Given the description of an element on the screen output the (x, y) to click on. 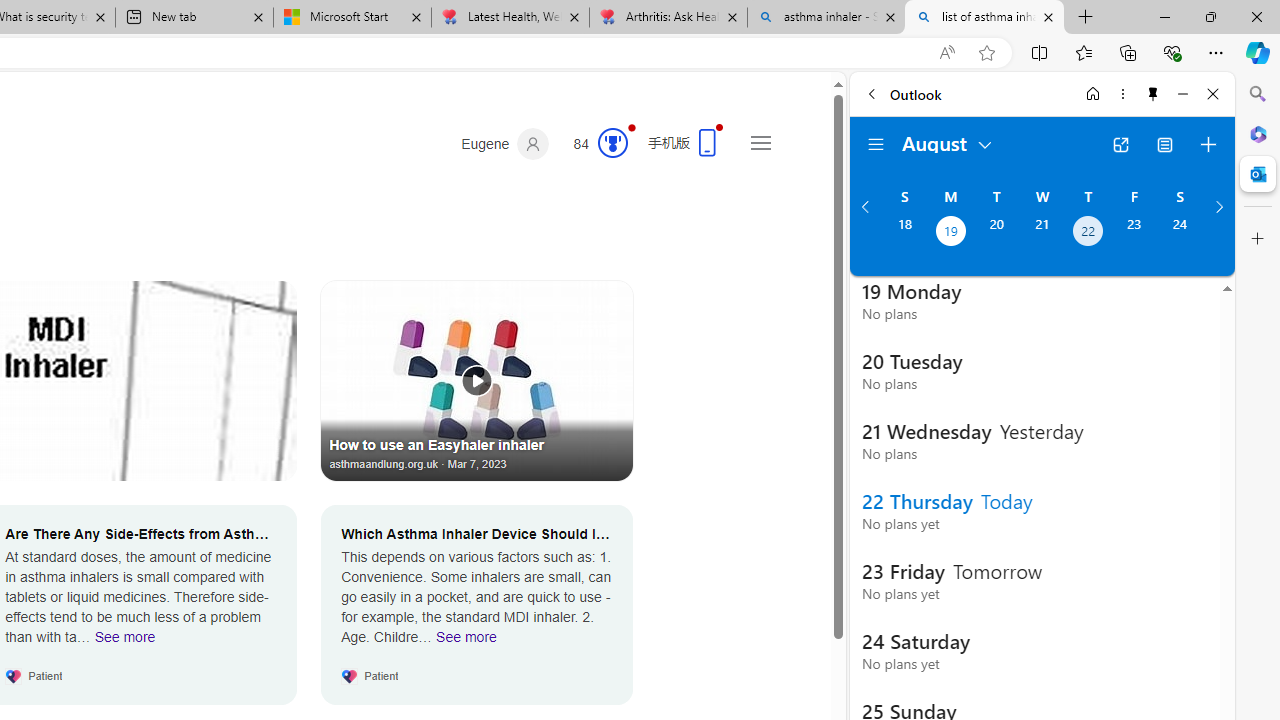
Eugene (505, 143)
Wednesday, August 21, 2024.  (1042, 233)
Tuesday, August 20, 2024.  (996, 233)
Folder navigation (876, 144)
Unpin side pane (1153, 93)
